Given the description of an element on the screen output the (x, y) to click on. 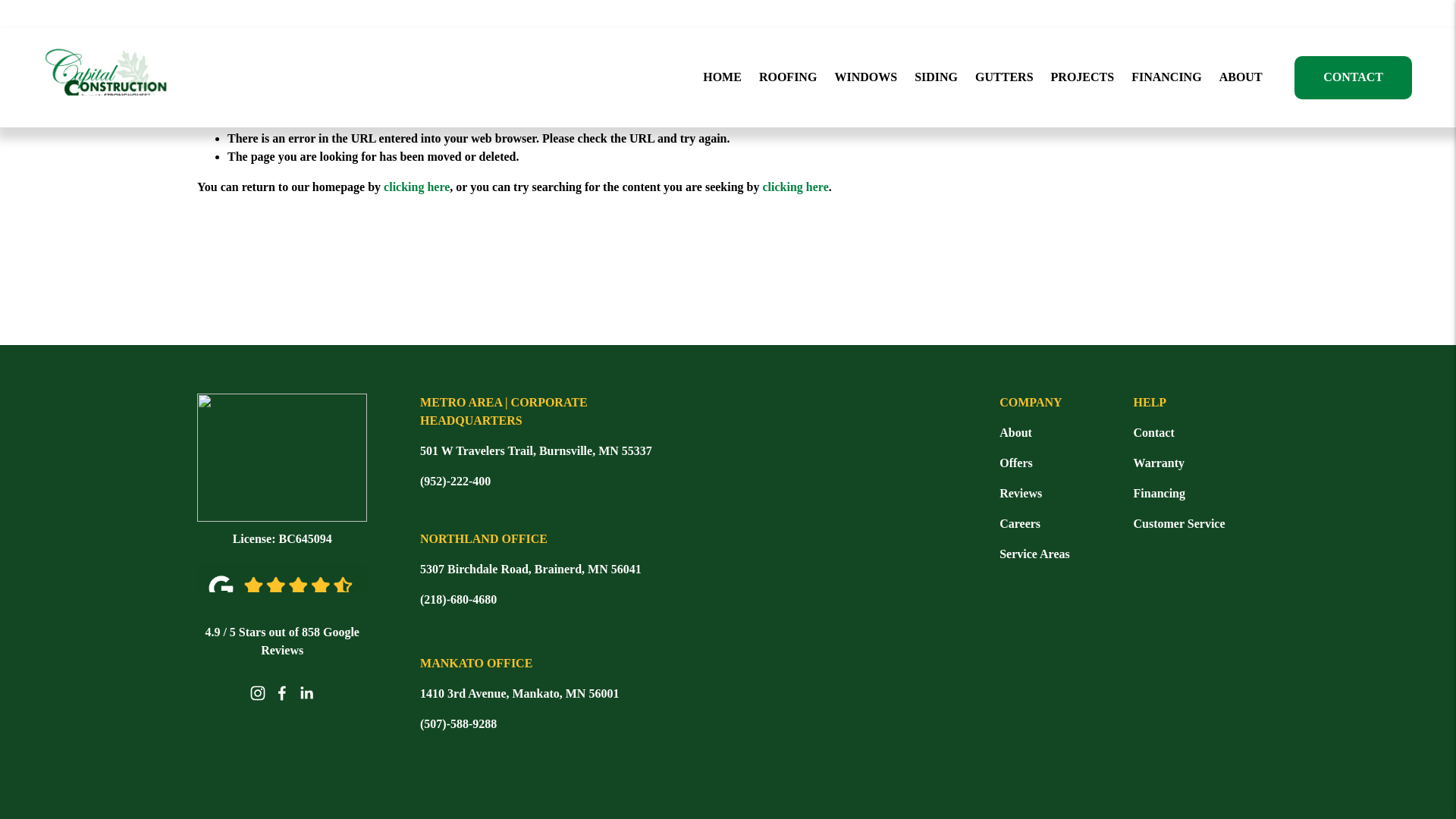
FINANCING (1166, 77)
ROOFING (787, 77)
WINDOWS (865, 77)
ABOUT (1241, 77)
clicking here (794, 186)
SIDING (936, 77)
HOME (722, 77)
CONTACT (1353, 77)
PROJECTS (1083, 77)
clicking here (416, 186)
